Given the description of an element on the screen output the (x, y) to click on. 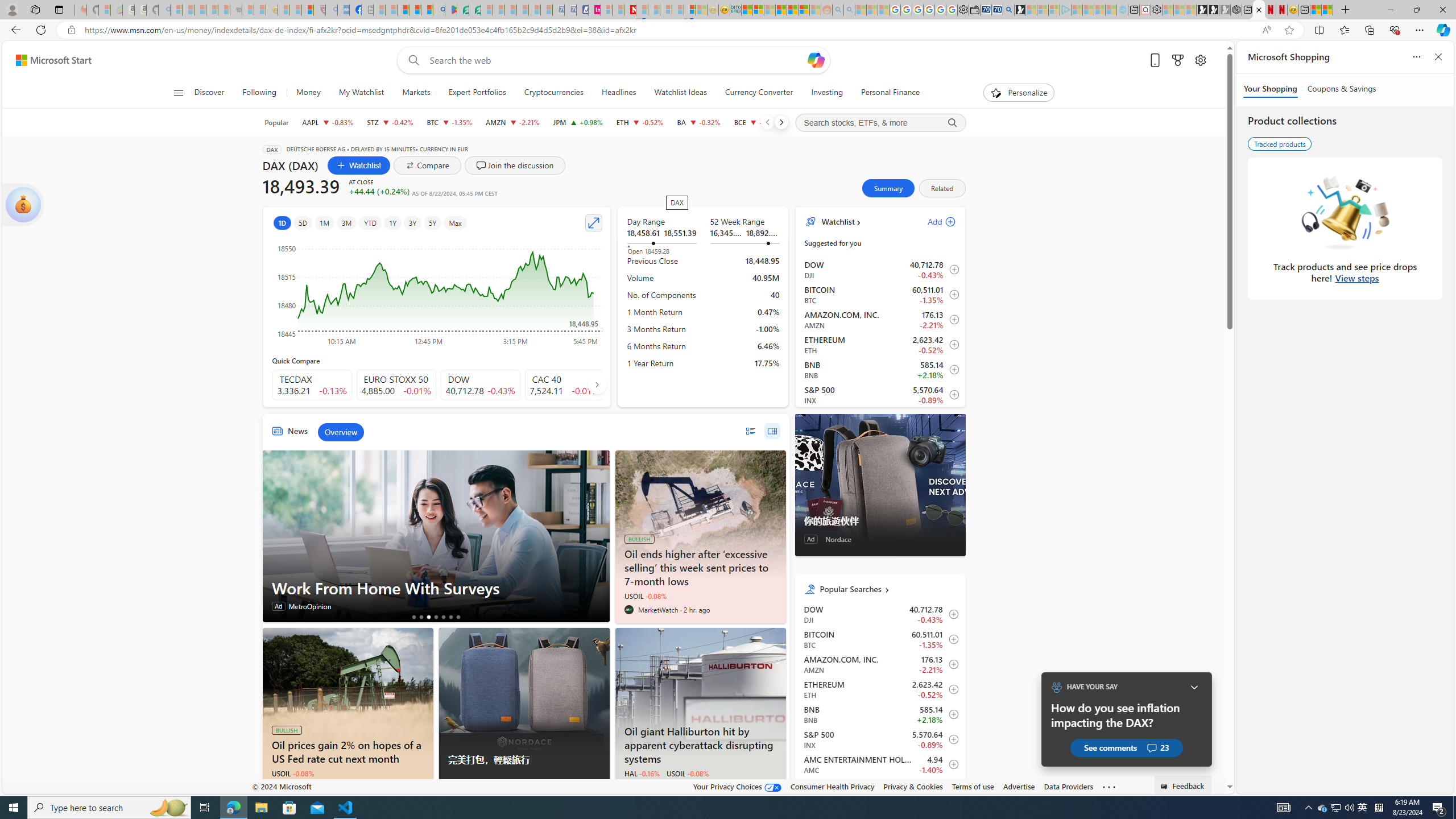
Personal Finance (885, 92)
Wallet (974, 9)
Data Providers (1068, 785)
5D (301, 223)
Work From Home With Surveys (436, 535)
